Given the description of an element on the screen output the (x, y) to click on. 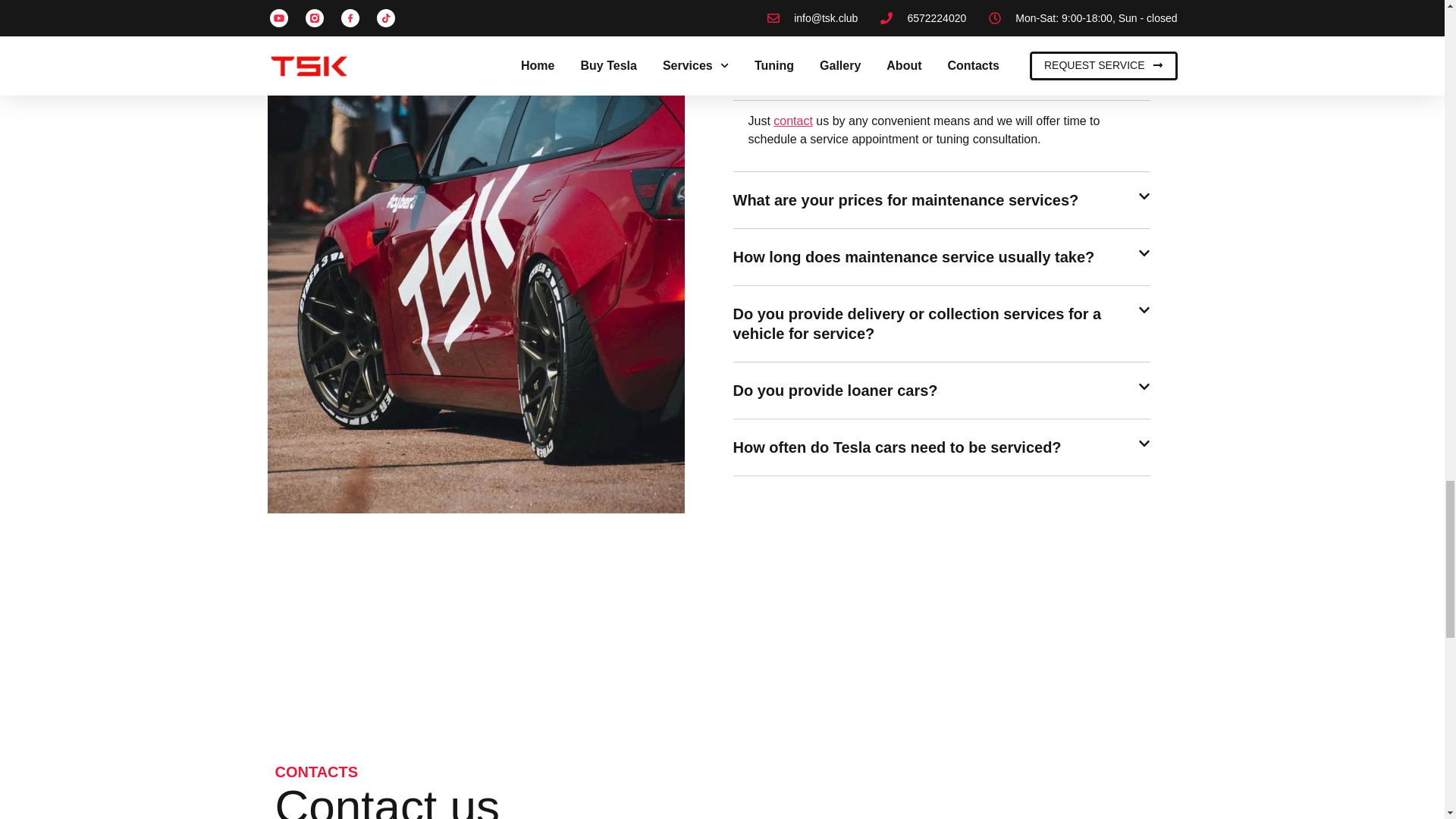
5556 Corporate Ave Cypress CA 90630 USA (949, 700)
